Given the description of an element on the screen output the (x, y) to click on. 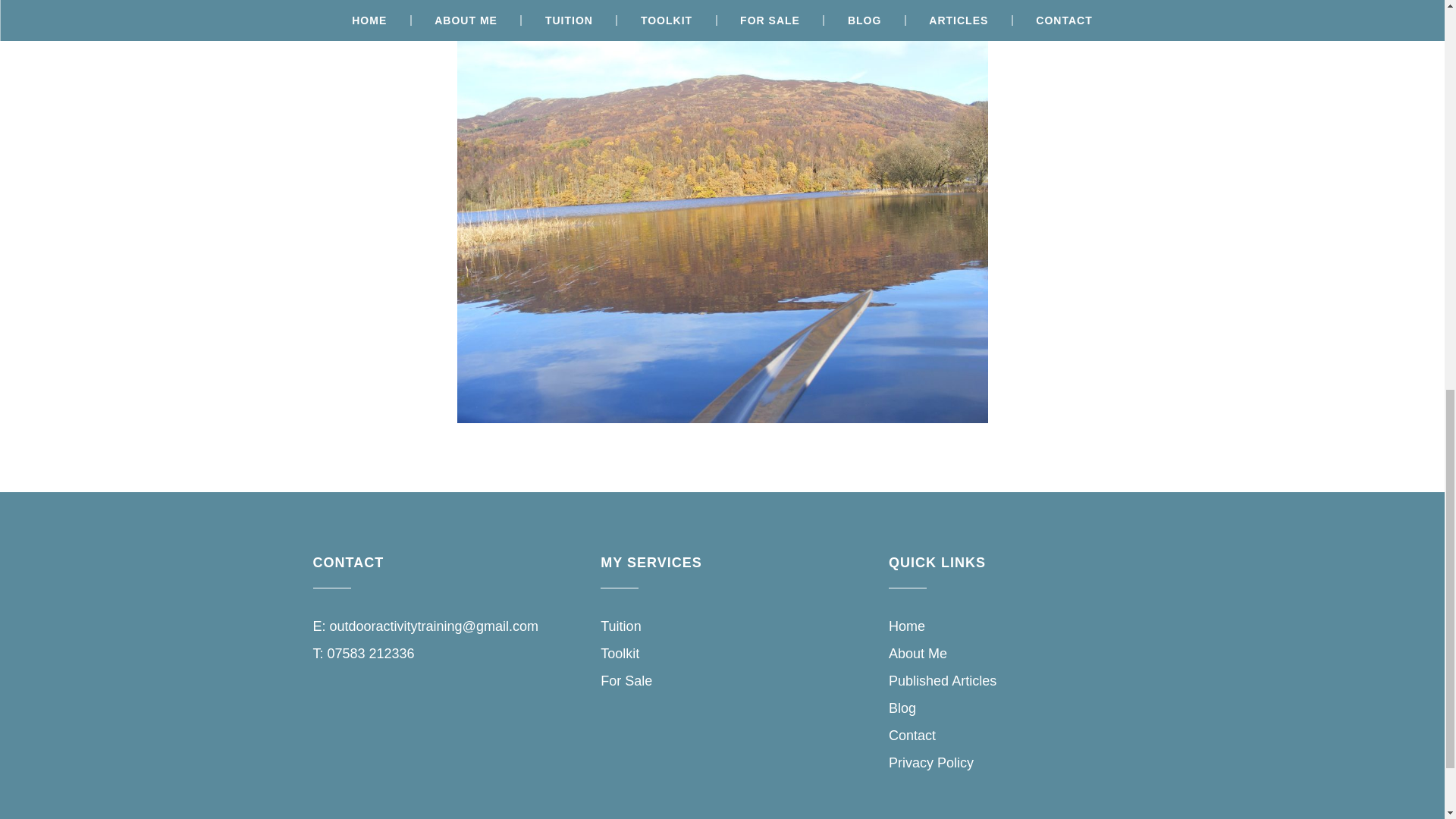
Toolkit (619, 653)
Published Articles (941, 680)
About Me (917, 653)
For Sale (625, 680)
Blog (901, 708)
07583 212336 (370, 653)
Privacy Policy (931, 762)
Tuition (619, 626)
Home (906, 626)
Contact (912, 735)
